Given the description of an element on the screen output the (x, y) to click on. 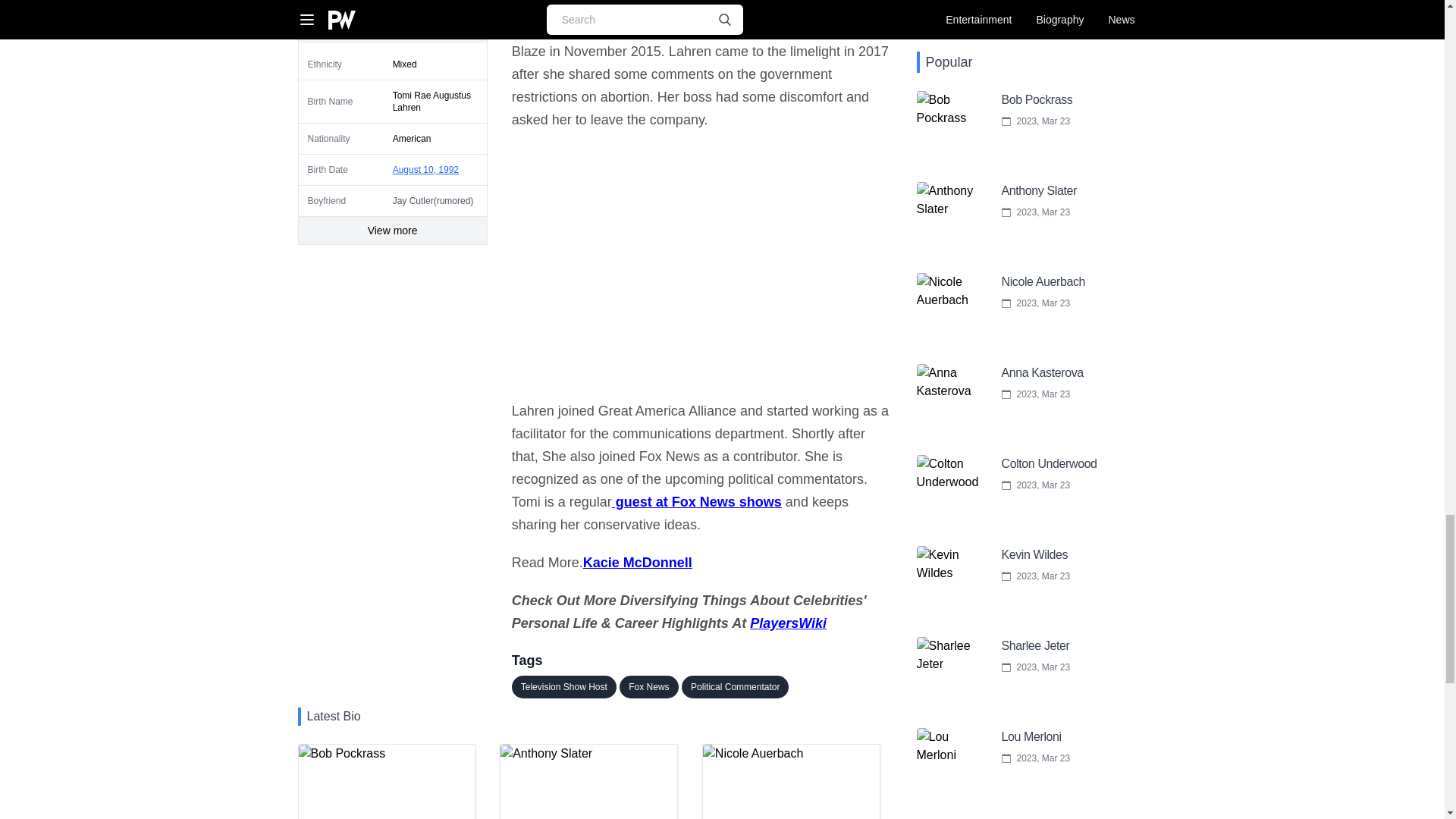
guest at Fox News shows (696, 501)
PlayersWiki (788, 622)
Political Commentator (735, 686)
Bob Pockrass (386, 781)
Television Show Host (790, 781)
Fox News (563, 686)
Kacie McDonnell (649, 686)
Anthony Slater (638, 562)
Nicole Auerbach (588, 781)
